Given the description of an element on the screen output the (x, y) to click on. 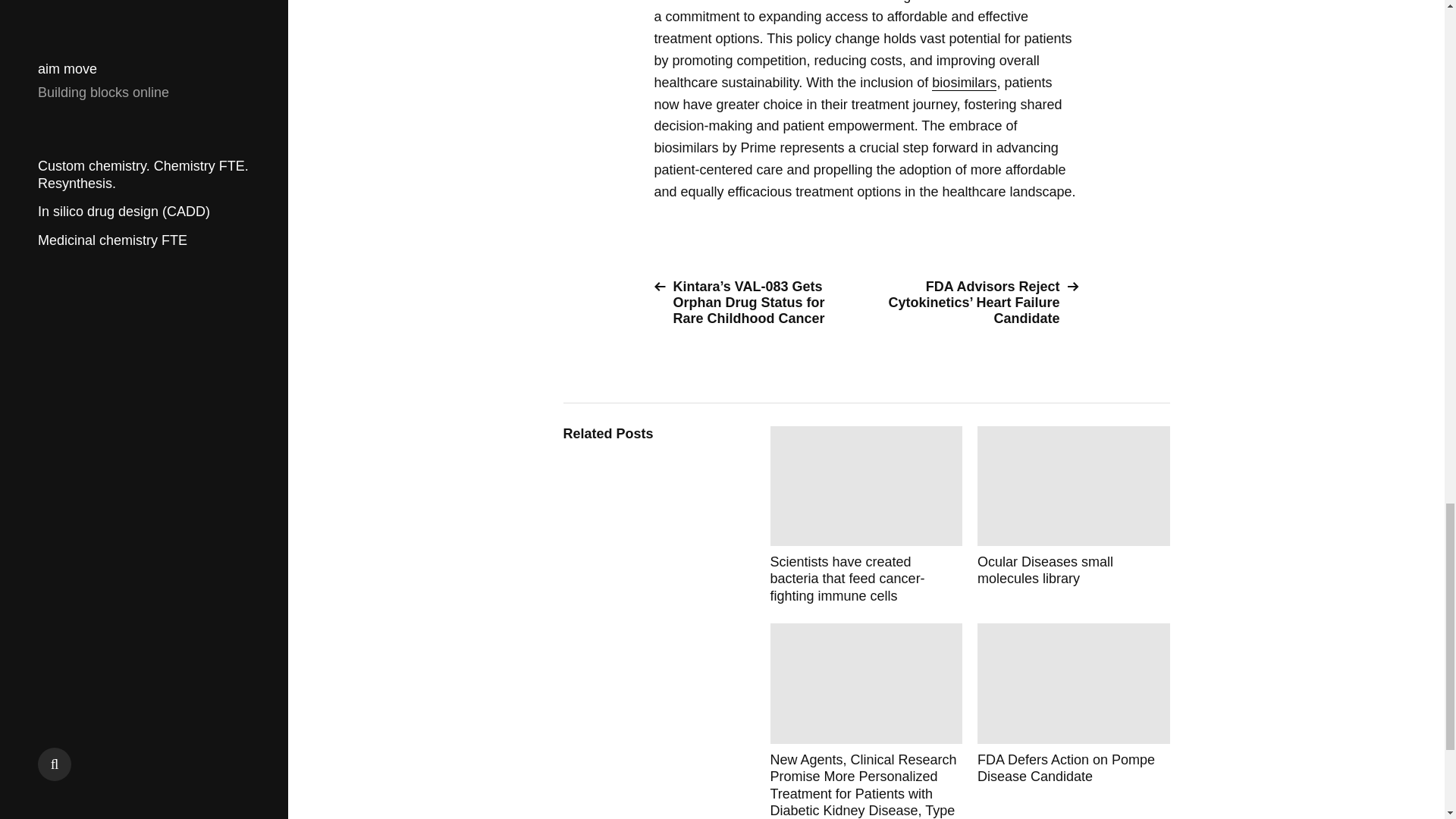
biosimilars (963, 82)
Ocular Diseases small molecules library (1073, 515)
FDA Defers Action on Pompe Disease Candidate (1073, 721)
